Given the description of an element on the screen output the (x, y) to click on. 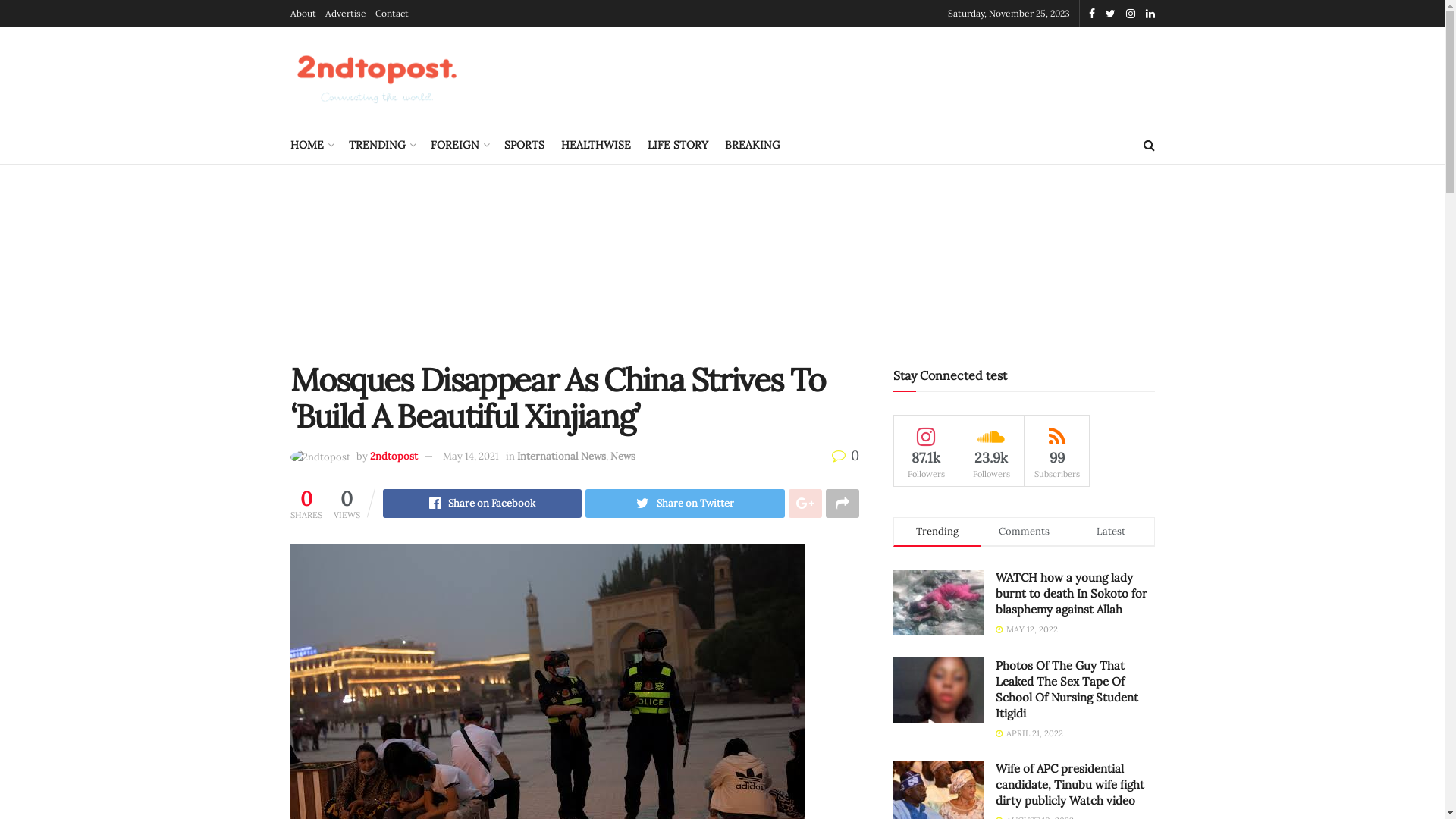
LIFE STORY Element type: text (677, 144)
TRENDING Element type: text (381, 144)
2ndtopost Element type: text (393, 455)
International News Element type: text (561, 455)
Share on Facebook Element type: text (481, 503)
87.1k
Followers Element type: text (926, 450)
SPORTS Element type: text (523, 144)
Advertise Element type: text (344, 13)
News Element type: text (621, 455)
Contact Element type: text (390, 13)
Advertisement Element type: hover (721, 262)
BREAKING Element type: text (752, 144)
99
Subscribers Element type: text (1056, 450)
About Element type: text (302, 13)
May 14, 2021 Element type: text (470, 455)
HEALTHWISE Element type: text (595, 144)
FOREIGN Element type: text (458, 144)
0 Element type: text (844, 455)
Share on Twitter Element type: text (684, 503)
23.9k
Followers Element type: text (991, 450)
HOME Element type: text (310, 144)
